Given the description of an element on the screen output the (x, y) to click on. 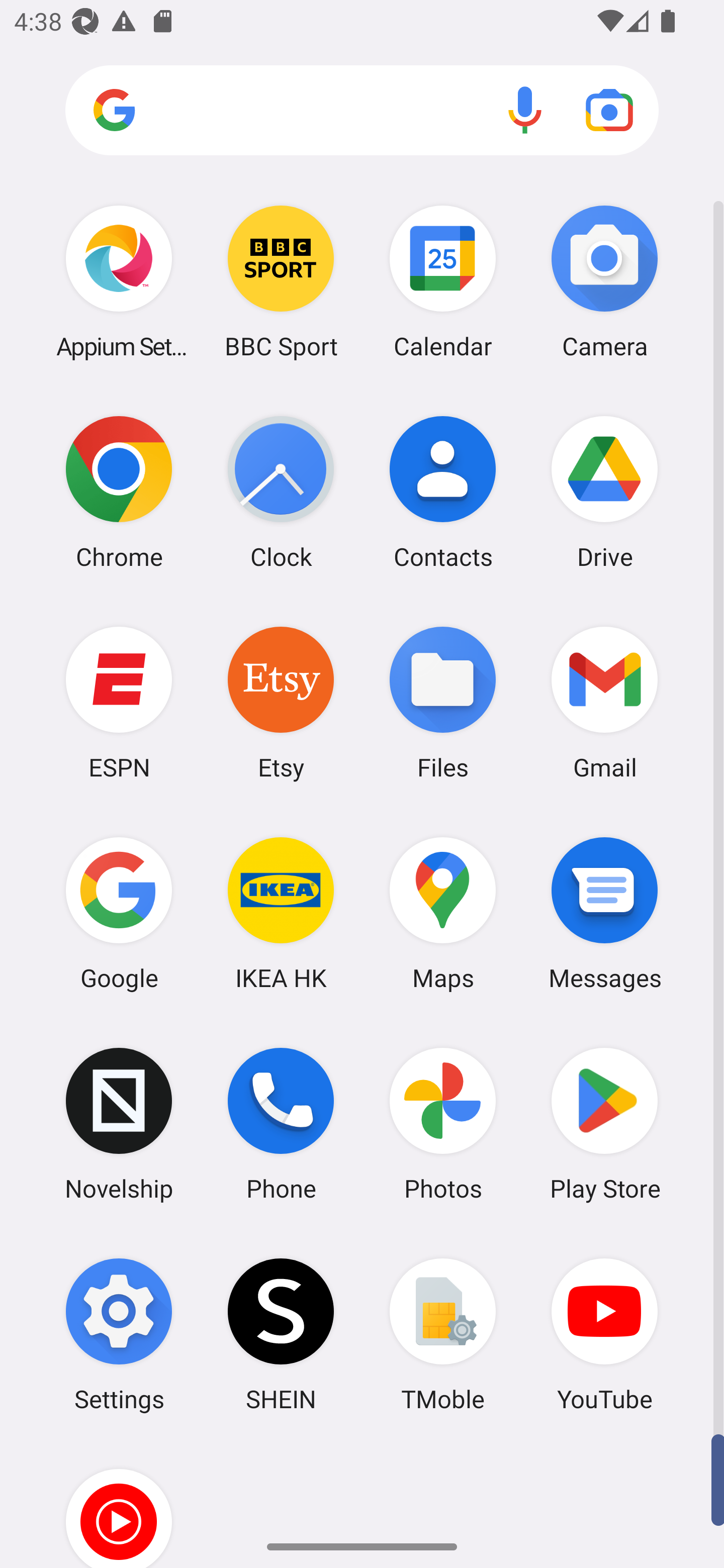
Search apps, web and more (361, 110)
Voice search (524, 109)
Google Lens (608, 109)
Appium Settings (118, 281)
BBC Sport (280, 281)
Calendar (443, 281)
Camera (604, 281)
Chrome (118, 492)
Clock (280, 492)
Contacts (443, 492)
Drive (604, 492)
ESPN (118, 702)
Etsy (280, 702)
Files (443, 702)
Gmail (604, 702)
Google (118, 913)
IKEA HK (280, 913)
Maps (443, 913)
Messages (604, 913)
Novelship (118, 1124)
Phone (280, 1124)
Photos (443, 1124)
Play Store (604, 1124)
Settings (118, 1334)
SHEIN (280, 1334)
TMoble (443, 1334)
YouTube (604, 1334)
YT Music (118, 1503)
